Given the description of an element on the screen output the (x, y) to click on. 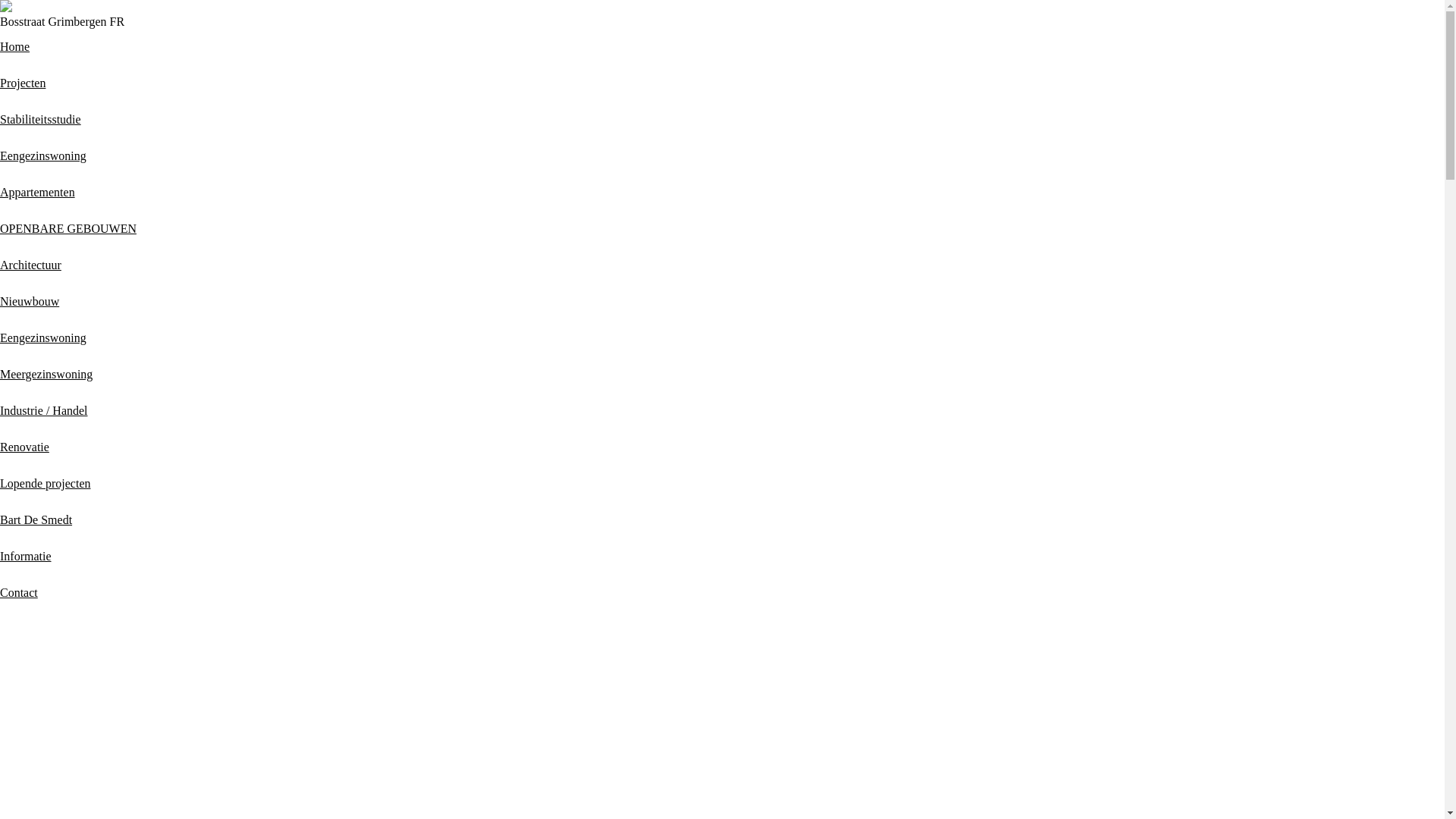
Nieuwbouw Element type: text (29, 300)
Contact Element type: text (18, 592)
OPENBARE GEBOUWEN Element type: text (68, 228)
Projecten Element type: text (22, 82)
Informatie Element type: text (25, 555)
Lopende projecten Element type: text (45, 482)
Meergezinswoning Element type: text (46, 373)
Appartementen Element type: text (37, 191)
Bart De Smedt Element type: text (36, 519)
Eengezinswoning Element type: text (43, 155)
Eengezinswoning Element type: text (43, 337)
Home Element type: text (14, 46)
Architectuur Element type: text (30, 264)
Stabiliteitsstudie Element type: text (40, 118)
Industrie / Handel Element type: text (43, 410)
Renovatie Element type: text (24, 446)
